Given the description of an element on the screen output the (x, y) to click on. 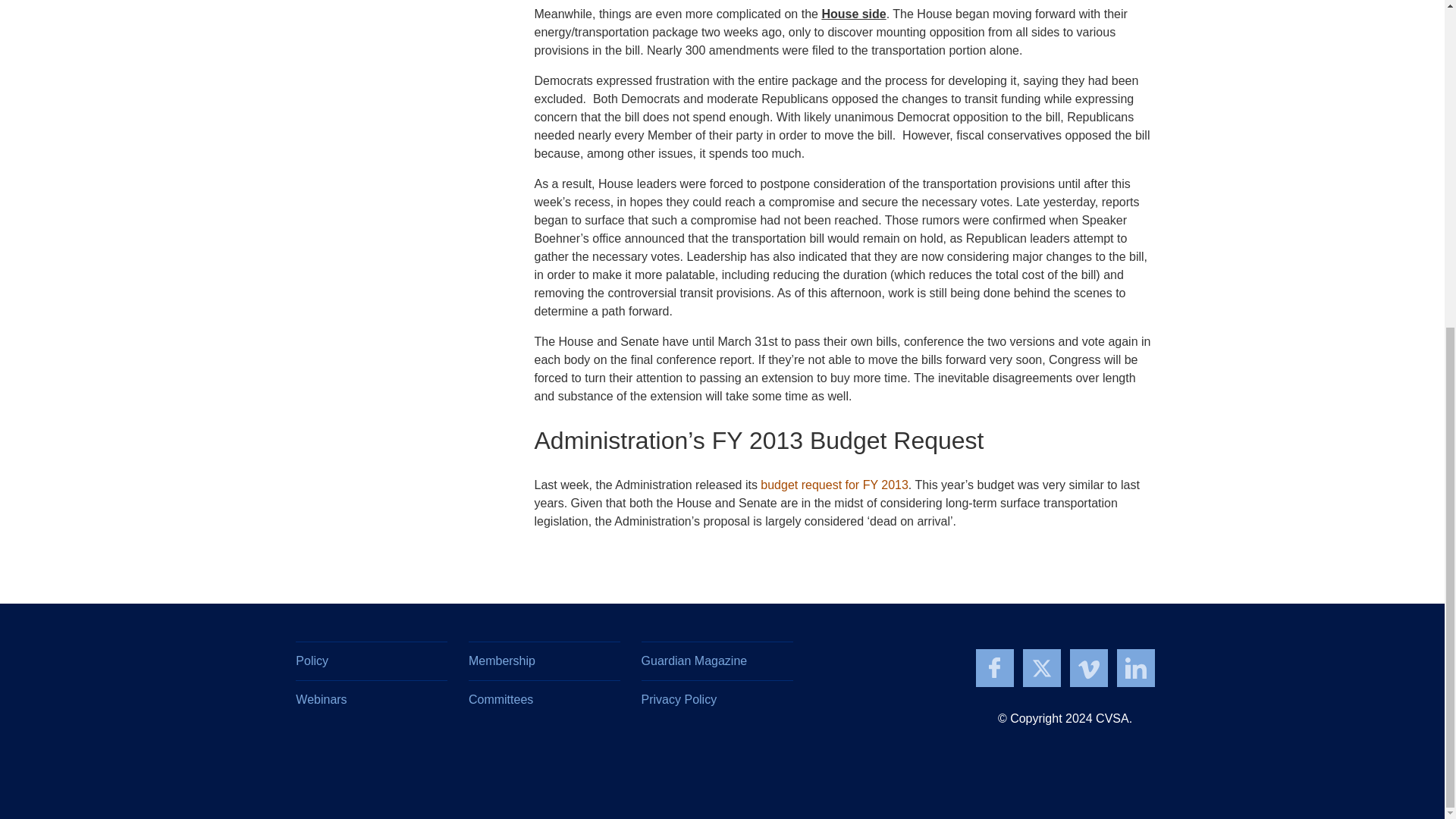
budget request for FY 2013 (832, 484)
Guardian Magazine (717, 661)
Membership (544, 661)
Policy (370, 661)
